Given the description of an element on the screen output the (x, y) to click on. 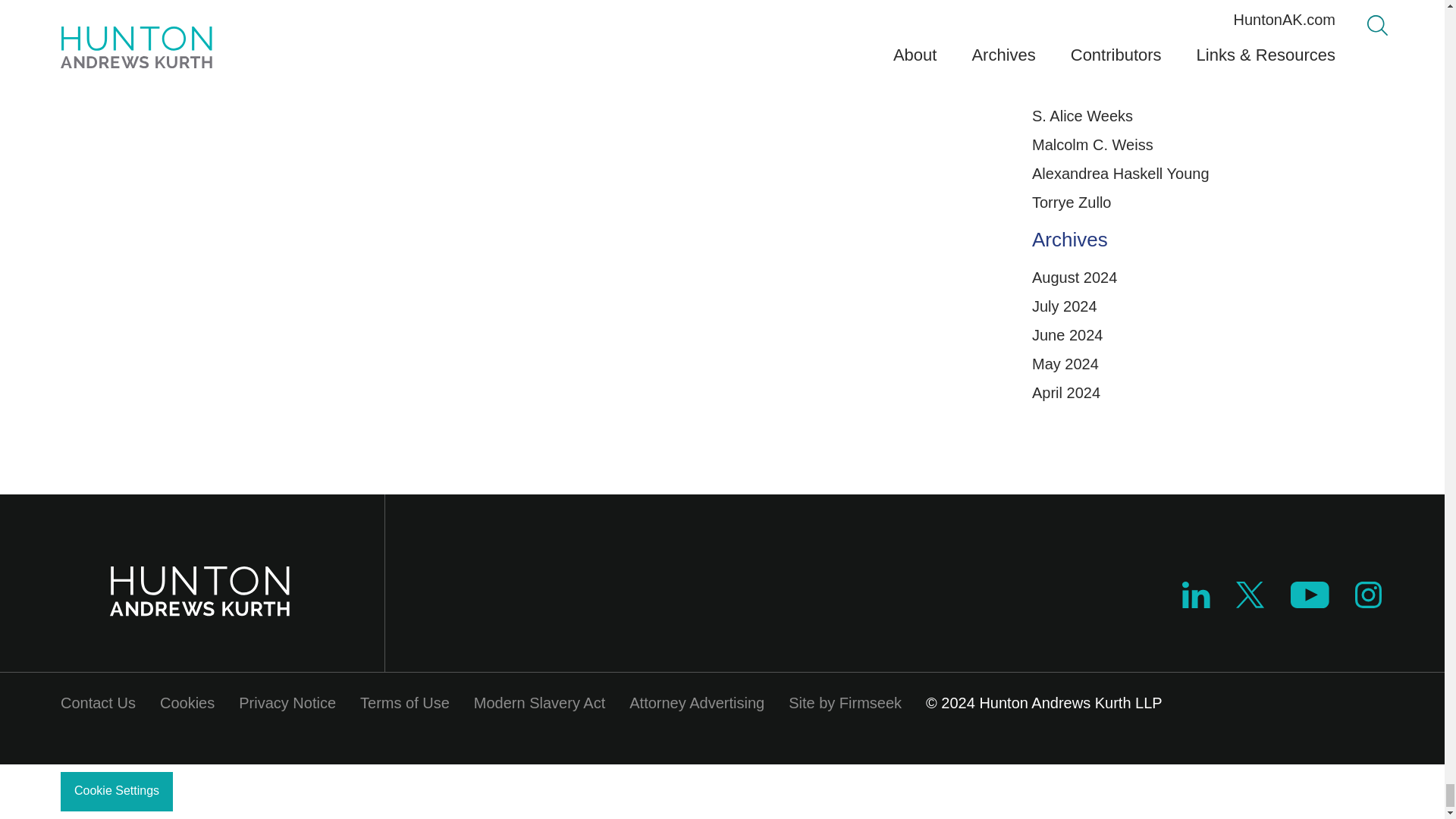
Linkedin (1195, 602)
Linkedin (1195, 594)
Instagram (1368, 594)
X (1250, 602)
Youtube (1309, 602)
Youtube (1309, 594)
Instagram (1369, 602)
